Given the description of an element on the screen output the (x, y) to click on. 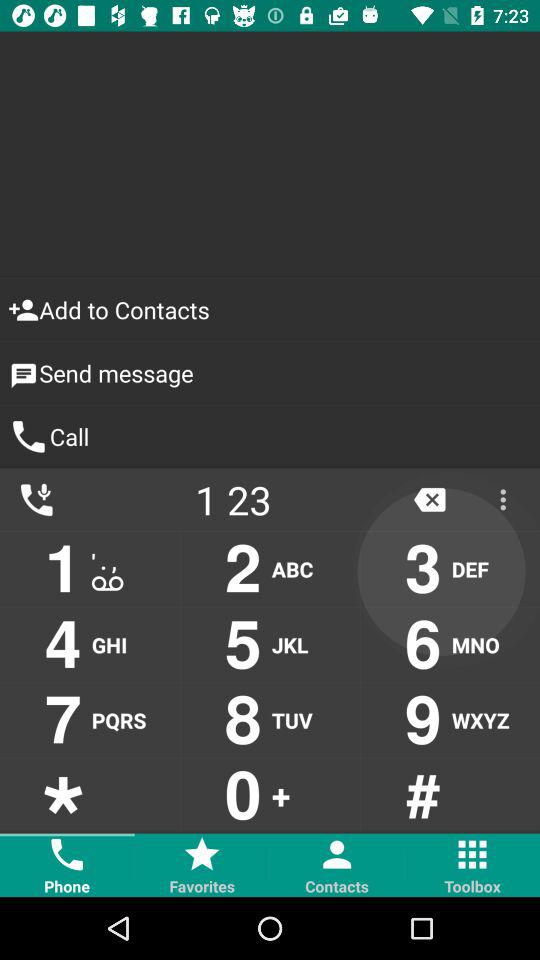
tap the add to contacts item (270, 309)
